Given the description of an element on the screen output the (x, y) to click on. 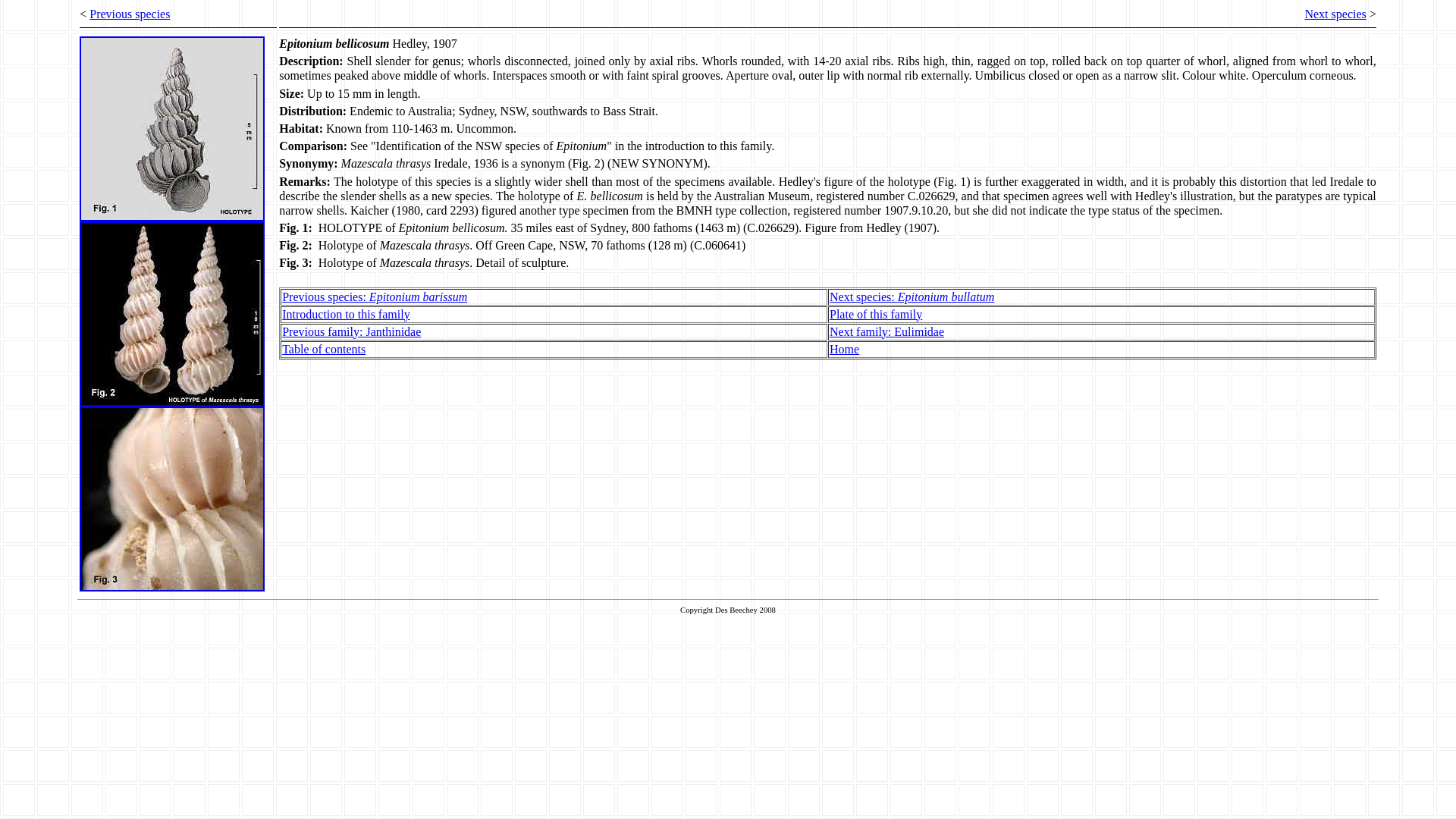
Plate of this family Element type: text (875, 313)
Previous species: Epitonium barissum Element type: text (374, 296)
Next species: Epitonium bullatum Element type: text (911, 296)
Previous family: Janthinidae Element type: text (351, 331)
Introduction to this family Element type: text (345, 313)
Next family: Eulimidae Element type: text (886, 331)
Home Element type: text (844, 348)
Next species Element type: text (1334, 13)
Table of contents Element type: text (323, 348)
Previous species Element type: text (129, 13)
